Given the description of an element on the screen output the (x, y) to click on. 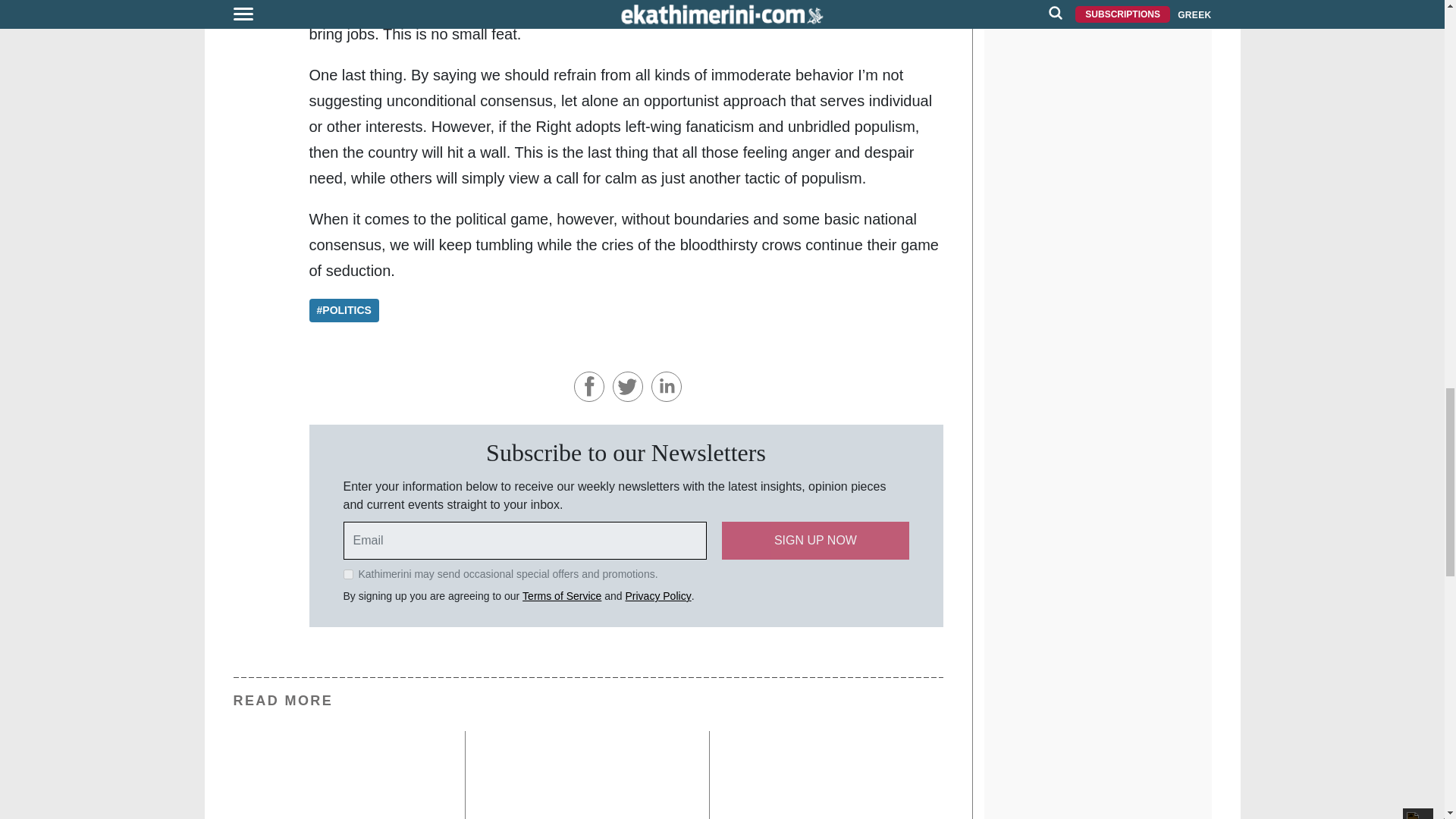
on (347, 574)
